Given the description of an element on the screen output the (x, y) to click on. 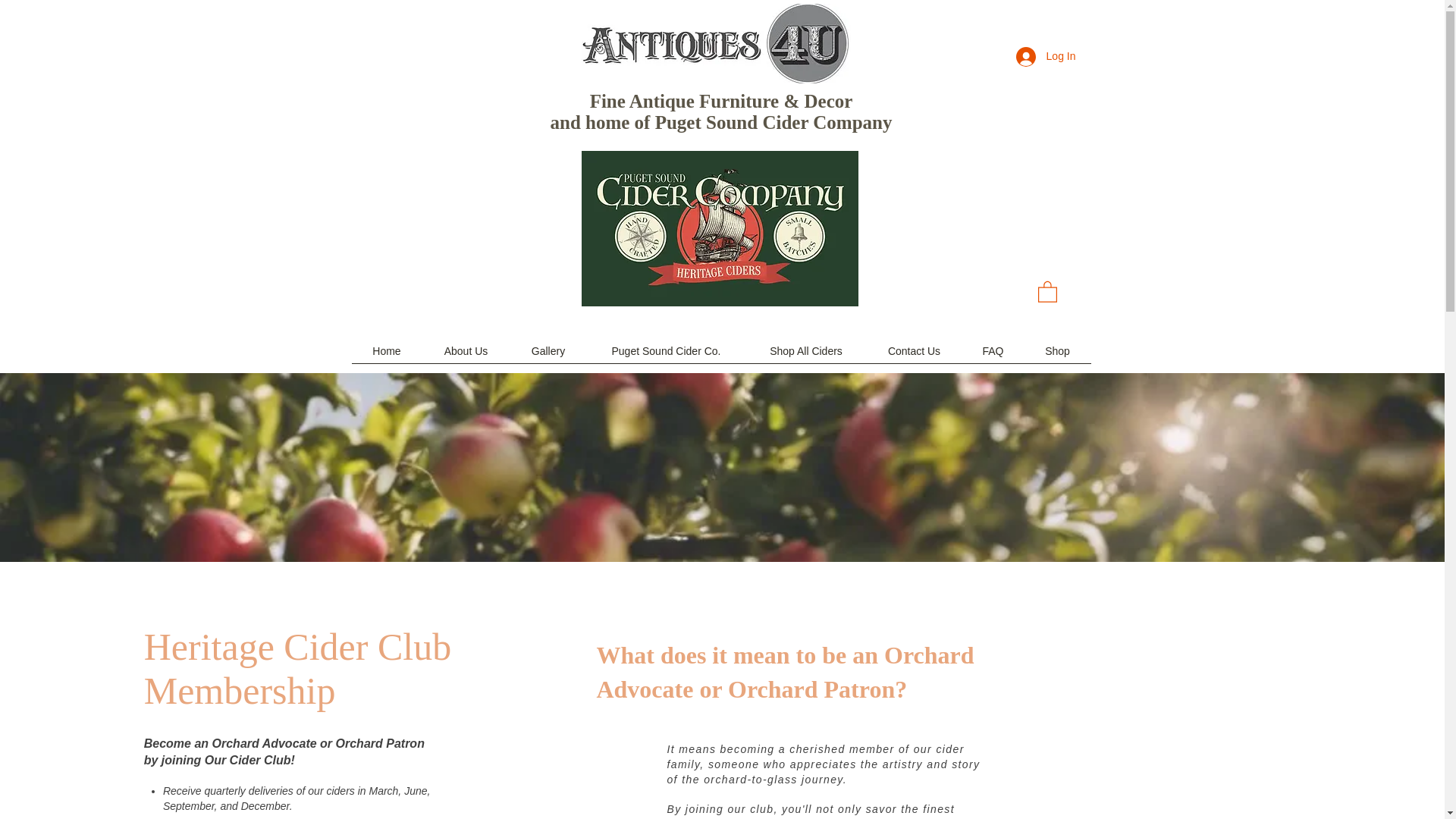
Home (387, 356)
Log In (1046, 56)
About Us (465, 356)
Shop (1056, 356)
Shop All Ciders (805, 356)
Gallery (547, 356)
Contact Us (913, 356)
FAQ (991, 356)
